Given the description of an element on the screen output the (x, y) to click on. 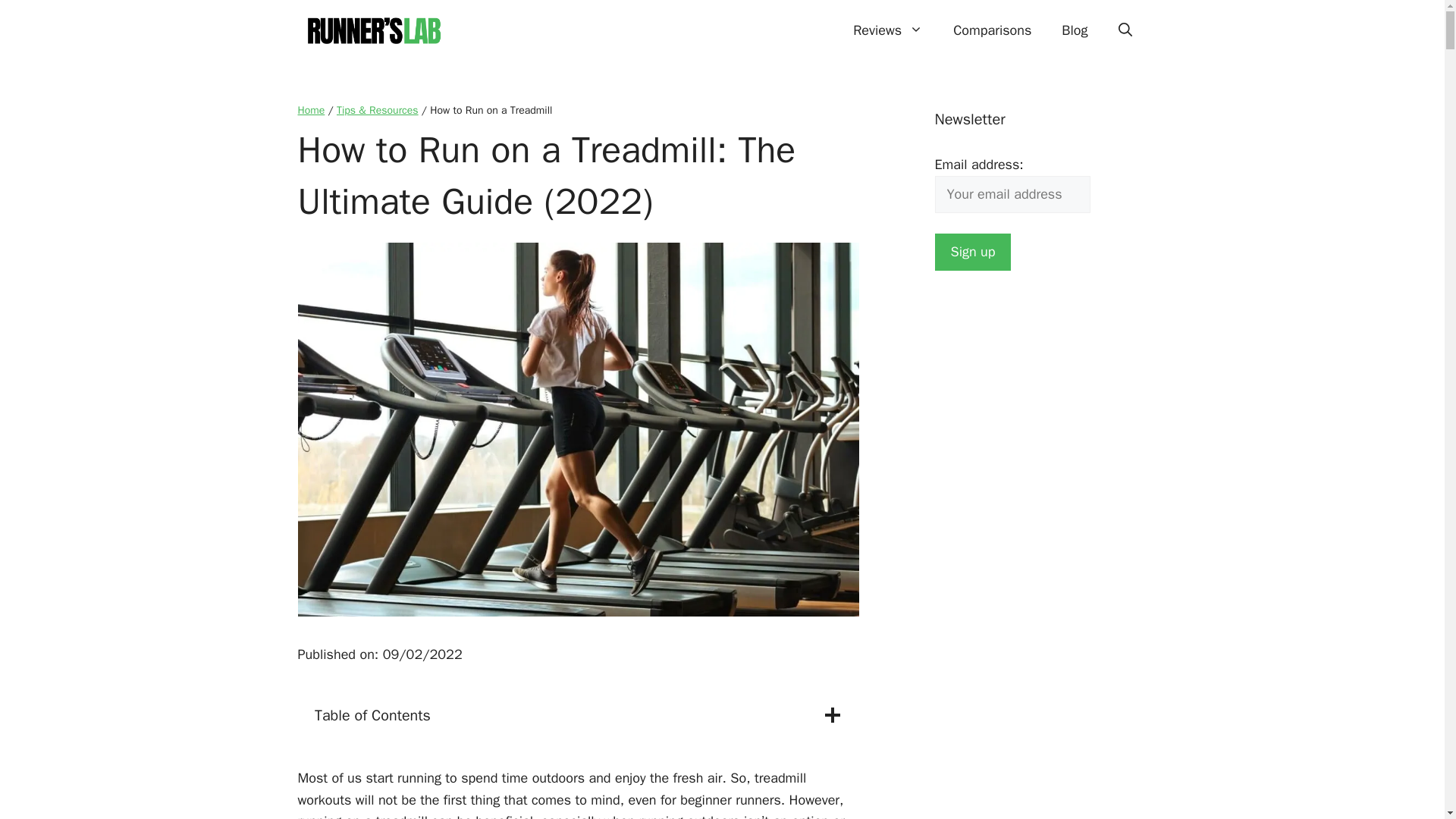
Blog (1074, 30)
Sign up (972, 252)
Comparisons (991, 30)
Home (310, 110)
Reviews (887, 30)
